Given the description of an element on the screen output the (x, y) to click on. 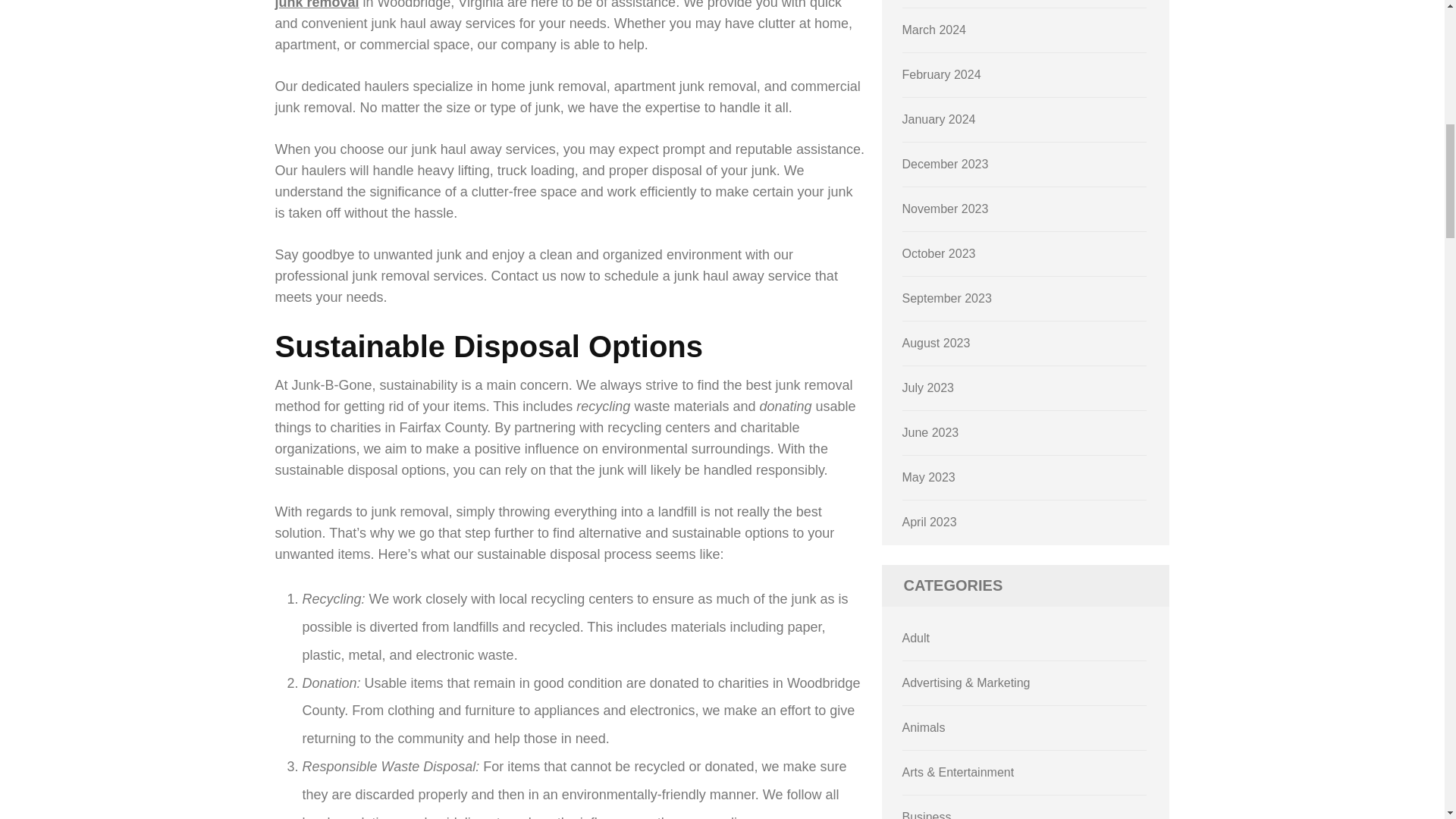
April 2023 (929, 521)
you can hire Junk B Gone for junk removal (564, 4)
March 2024 (934, 29)
May 2023 (928, 477)
July 2023 (928, 387)
October 2023 (938, 253)
June 2023 (930, 431)
Animals (923, 727)
August 2023 (936, 342)
November 2023 (945, 208)
January 2024 (938, 119)
Adult (916, 637)
September 2023 (946, 297)
February 2024 (941, 74)
December 2023 (945, 164)
